Given the description of an element on the screen output the (x, y) to click on. 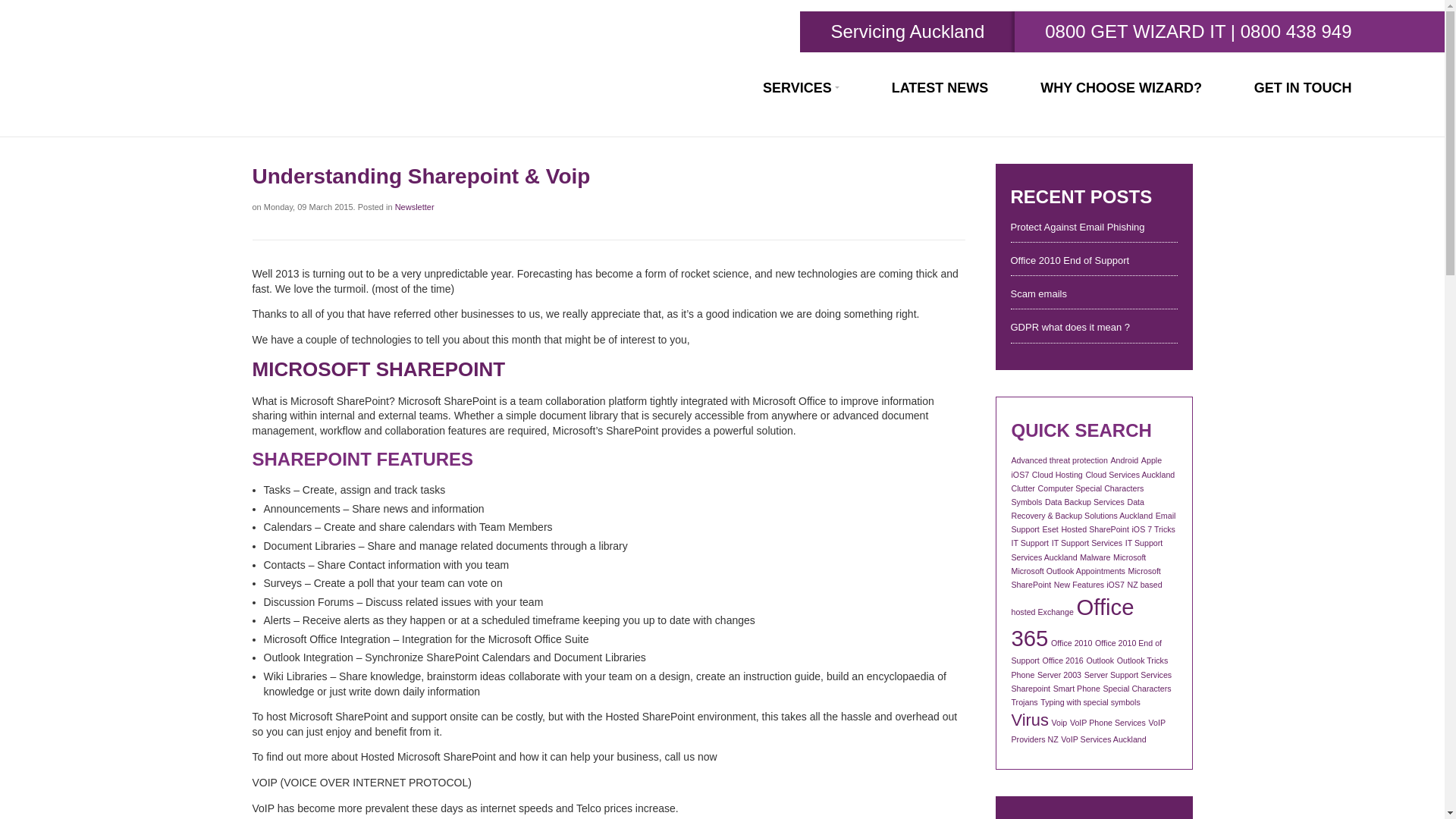
Apple iOS7 (1086, 466)
Newsletter (413, 206)
GDPR what does it mean ? (1093, 327)
Data Backup Services (1084, 501)
WHY CHOOSE WIZARD? (1121, 88)
Android (1123, 460)
Computer Special Characters Symbols (1077, 495)
SERVICES (801, 88)
Clutter (1023, 488)
LATEST NEWS (939, 88)
Cloud Hosting (1057, 474)
Scam emails (1093, 294)
GET IN TOUCH (1302, 88)
Office 2010 End of Support (1093, 260)
Eset (1050, 528)
